Given the description of an element on the screen output the (x, y) to click on. 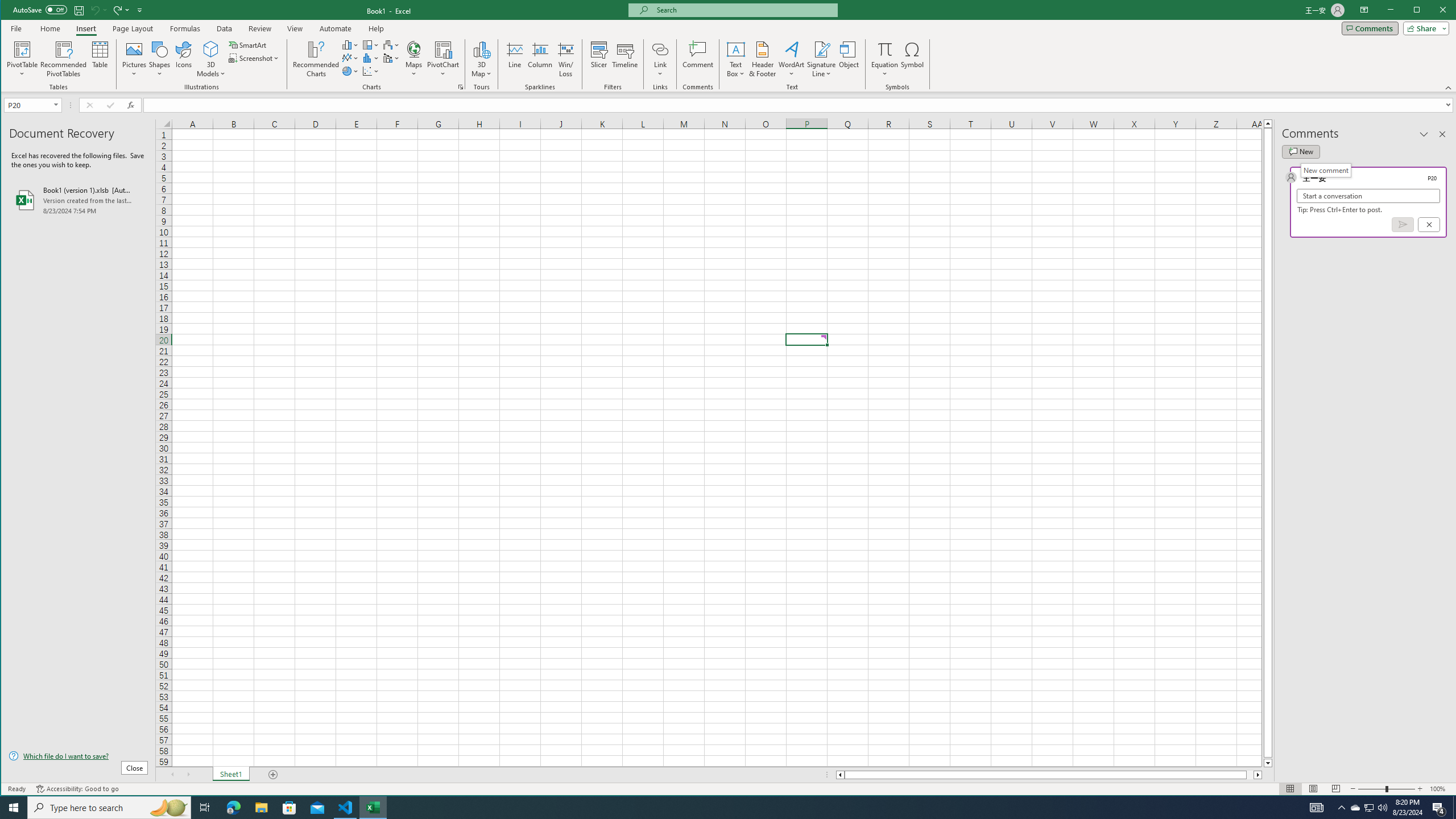
Line up (1267, 122)
Name Box (32, 105)
Name Box (27, 104)
Sheet1 (230, 774)
Win/Loss (565, 59)
Post comment (Ctrl + Enter) (1402, 224)
Quick Access Toolbar (79, 9)
Insert Column or Bar Chart (350, 44)
Undo (94, 9)
Insert Combo Chart (391, 57)
Icons (183, 59)
Undo (98, 9)
PivotChart (443, 59)
View (294, 28)
Zoom Out (1372, 788)
